Given the description of an element on the screen output the (x, y) to click on. 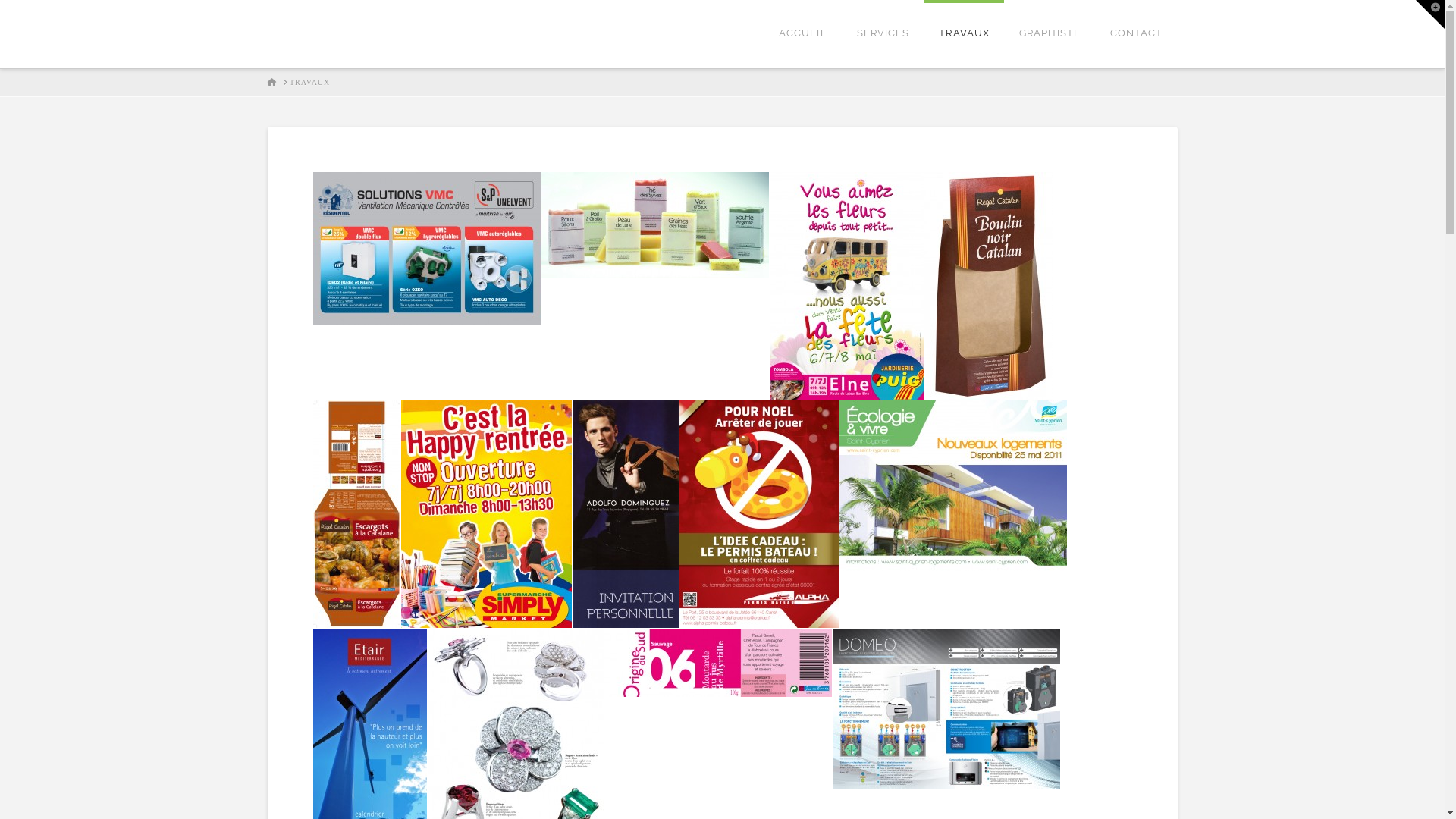
TRAVAUX Element type: text (309, 82)
TRAVAUX Element type: text (963, 34)
GRAPHISTE Element type: text (1049, 34)
CONTACT Element type: text (1136, 34)
ACCUEIL Element type: text (802, 34)
HOME Element type: text (271, 82)
Toggle the Widgetbar Element type: text (1429, 14)
SERVICES Element type: text (882, 34)
